Given the description of an element on the screen output the (x, y) to click on. 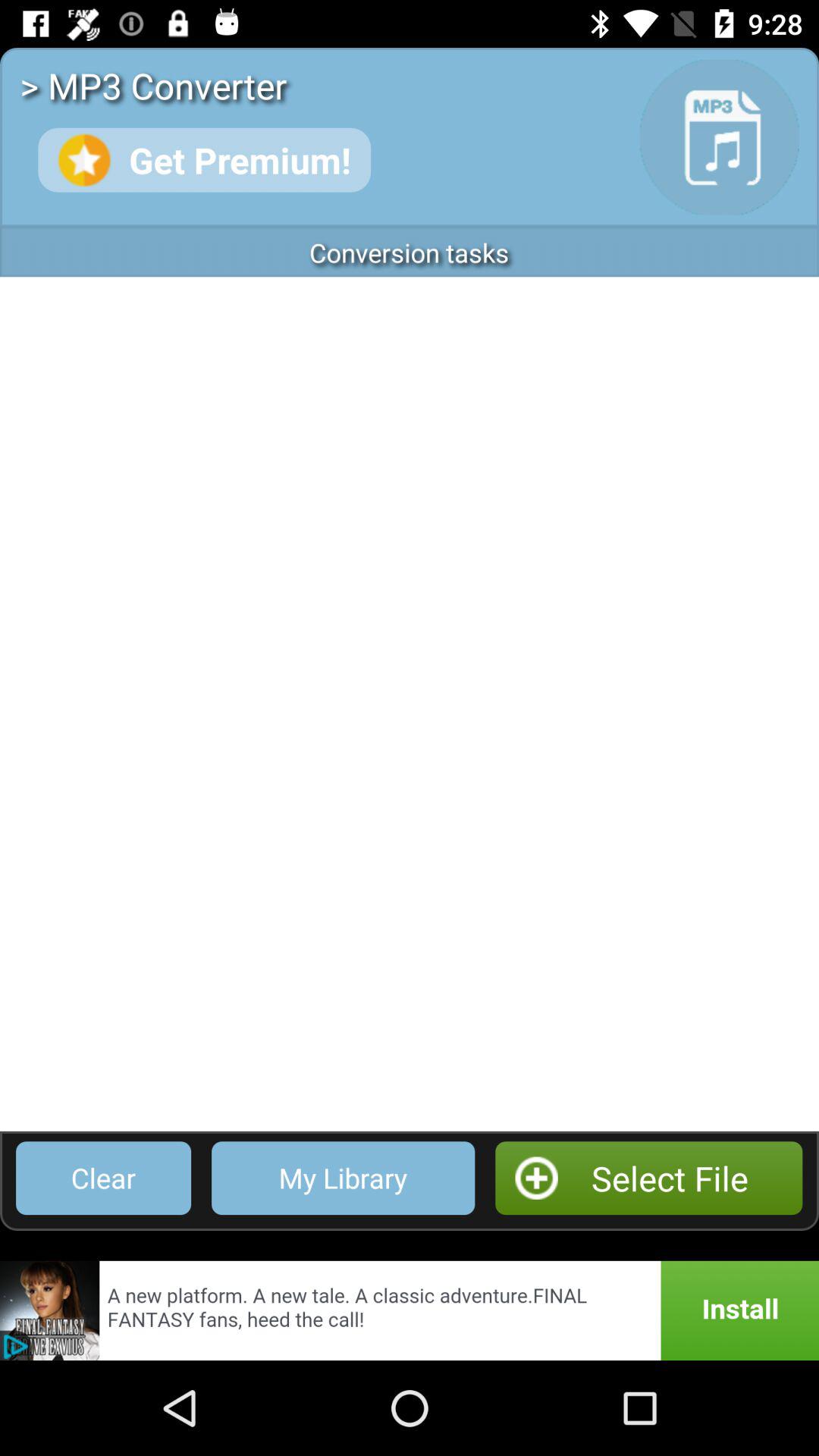
select the select file at the bottom right corner (648, 1177)
